Given the description of an element on the screen output the (x, y) to click on. 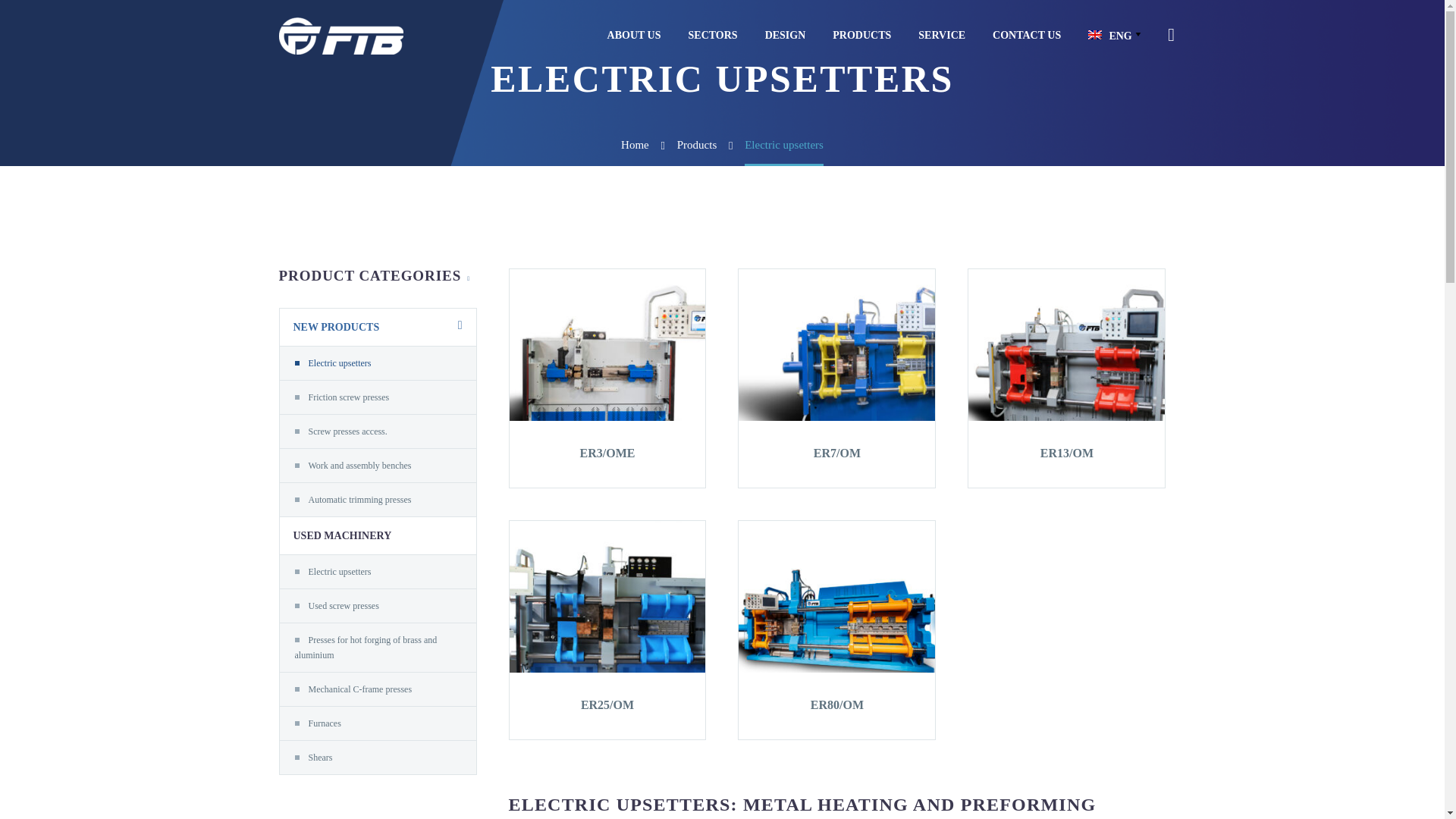
USED MACHINERY (335, 535)
Products (697, 144)
SECTORS (713, 35)
DESIGN (785, 35)
ENG (1115, 35)
Screw presses access. (347, 430)
Work and assembly benches (358, 465)
ABOUT US (633, 35)
Friction screw presses (347, 397)
NEW PRODUCTS (328, 326)
